Given the description of an element on the screen output the (x, y) to click on. 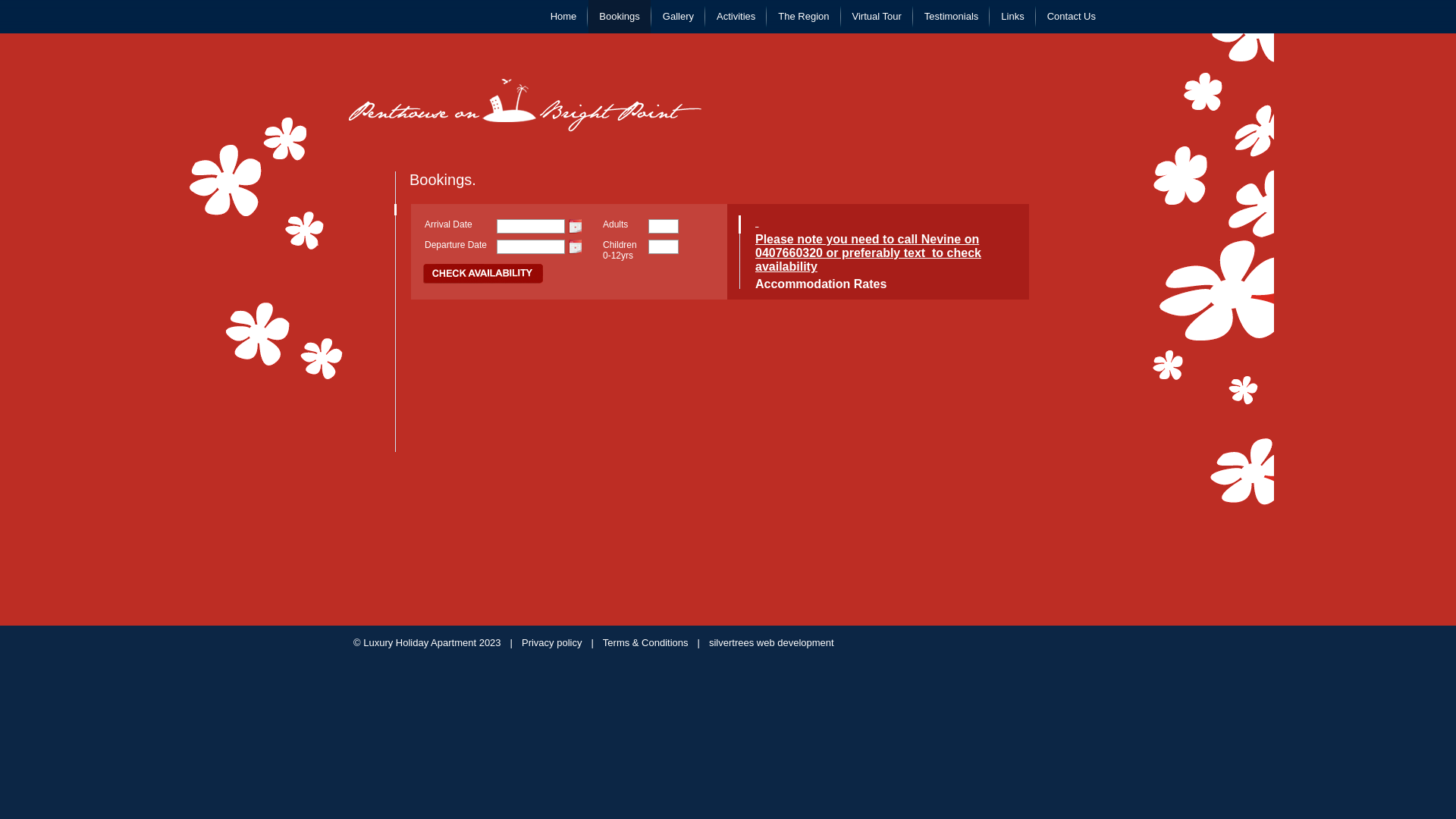
Links Element type: text (1012, 16)
Terms & Conditions Element type: text (645, 642)
Penthouse on Bright Point Element type: text (524, 104)
Privacy policy Element type: text (551, 642)
silvertrees web development Element type: text (771, 642)
Activities Element type: text (735, 16)
Contact Us Element type: text (1071, 16)
Virtual Tour Element type: text (876, 16)
Testimonials Element type: text (951, 16)
Home Element type: text (563, 16)
Gallery Element type: text (678, 16)
Bookings Element type: text (618, 16)
The Region Element type: text (803, 16)
